Given the description of an element on the screen output the (x, y) to click on. 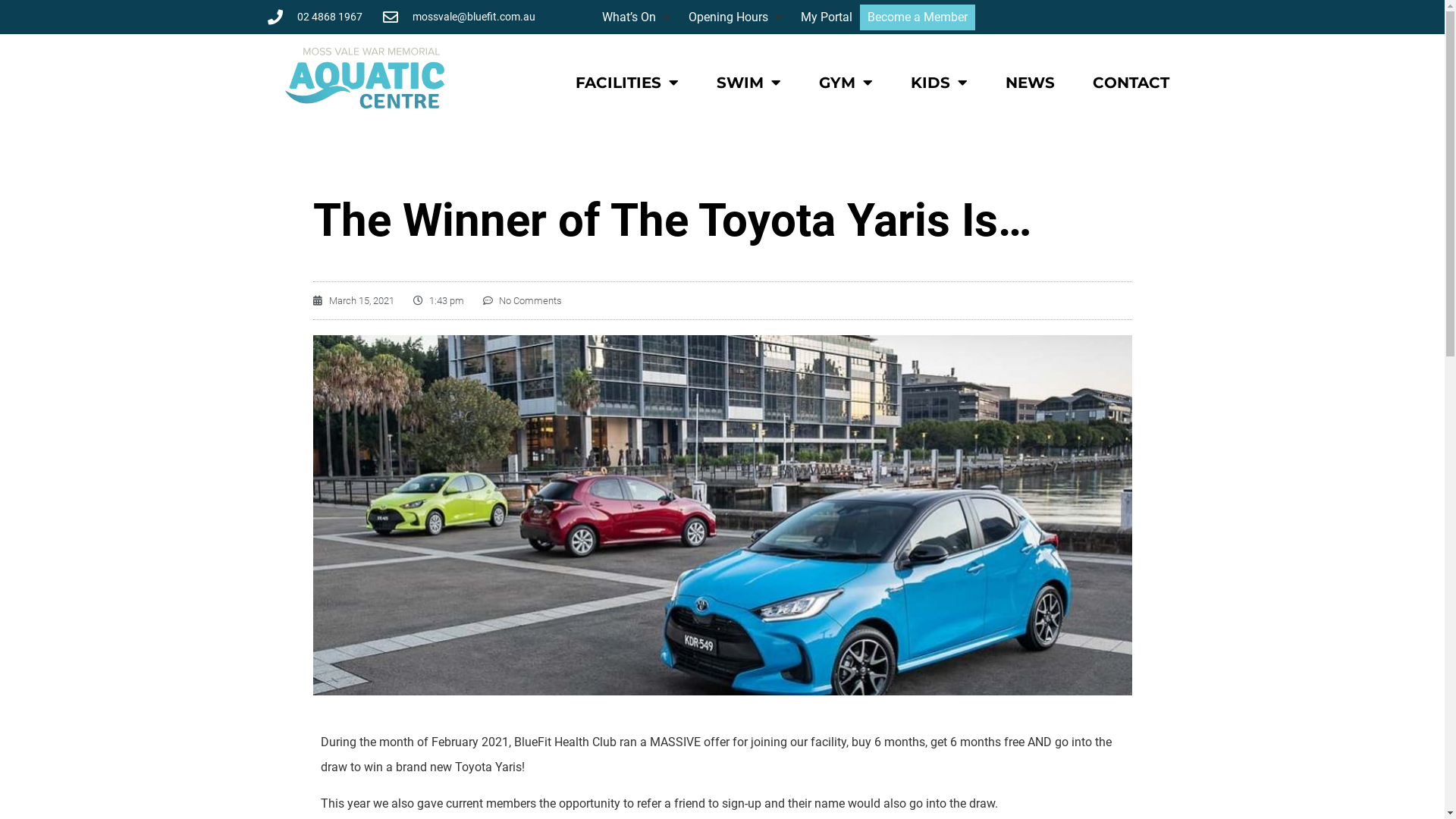
KIDS Element type: text (939, 82)
Opening Hours Element type: text (728, 16)
02 4868 1967 Element type: text (313, 17)
NEWS Element type: text (1029, 82)
Moss Vale Aquatic Centre_logo_hz Element type: hover (365, 77)
CONTACT Element type: text (1130, 82)
GYM Element type: text (845, 82)
Become a Member Element type: text (917, 16)
SWIM Element type: text (748, 82)
No Comments Element type: text (521, 300)
March 15, 2021 Element type: text (352, 300)
mossvale@bluefit.com.au Element type: text (458, 17)
FACILITIES Element type: text (626, 82)
My Portal Element type: text (826, 16)
